Given the description of an element on the screen output the (x, y) to click on. 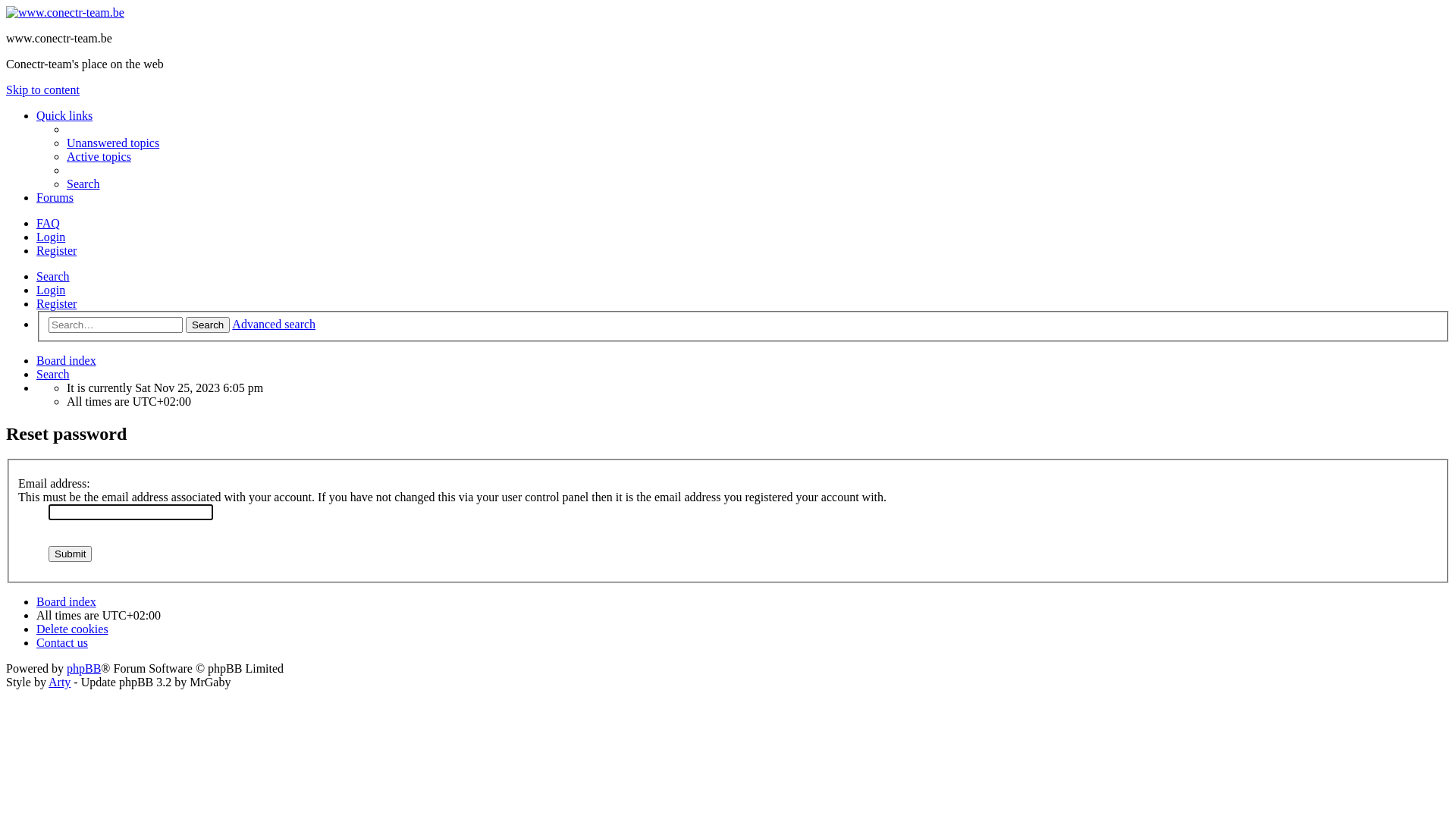
Search Element type: text (207, 324)
Arty Element type: text (59, 681)
Delete cookies Element type: text (72, 628)
Board index Element type: text (66, 360)
Board index Element type: hover (65, 12)
Board index Element type: text (66, 601)
Register Element type: text (56, 250)
Search Element type: text (52, 275)
FAQ Element type: text (47, 222)
Active topics Element type: text (98, 156)
Submit Element type: text (69, 553)
Search Element type: text (52, 373)
Search for keywords Element type: hover (115, 324)
Login Element type: text (50, 289)
Advanced search Element type: text (273, 323)
Register Element type: text (56, 303)
phpBB Element type: text (83, 668)
Skip to content Element type: text (42, 89)
Quick links Element type: text (64, 115)
Contact us Element type: text (61, 642)
Unanswered topics Element type: text (112, 142)
Forums Element type: text (54, 197)
Login Element type: text (50, 236)
Search Element type: text (83, 183)
